Given the description of an element on the screen output the (x, y) to click on. 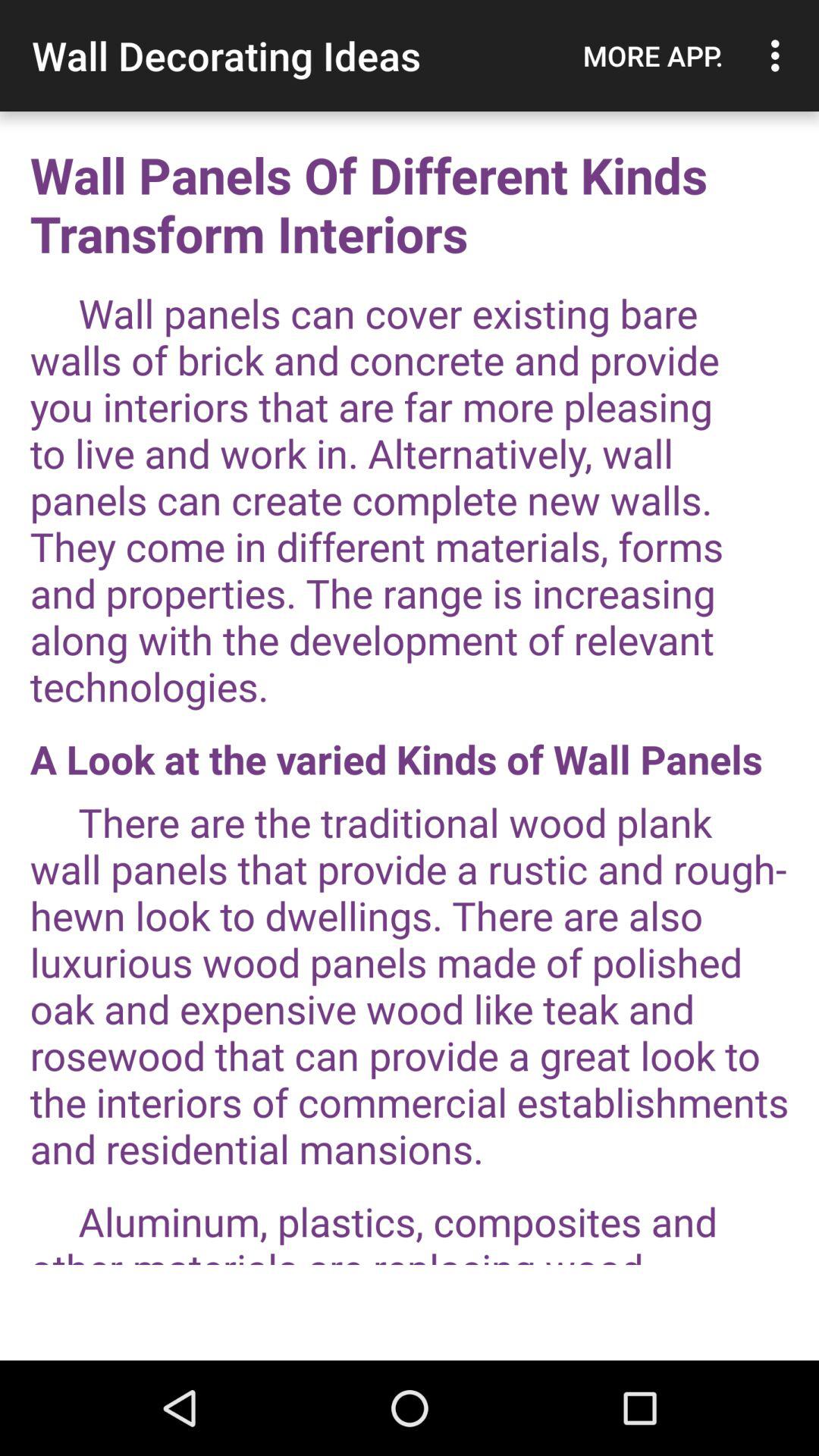
click icon to the right of more app. icon (779, 55)
